Given the description of an element on the screen output the (x, y) to click on. 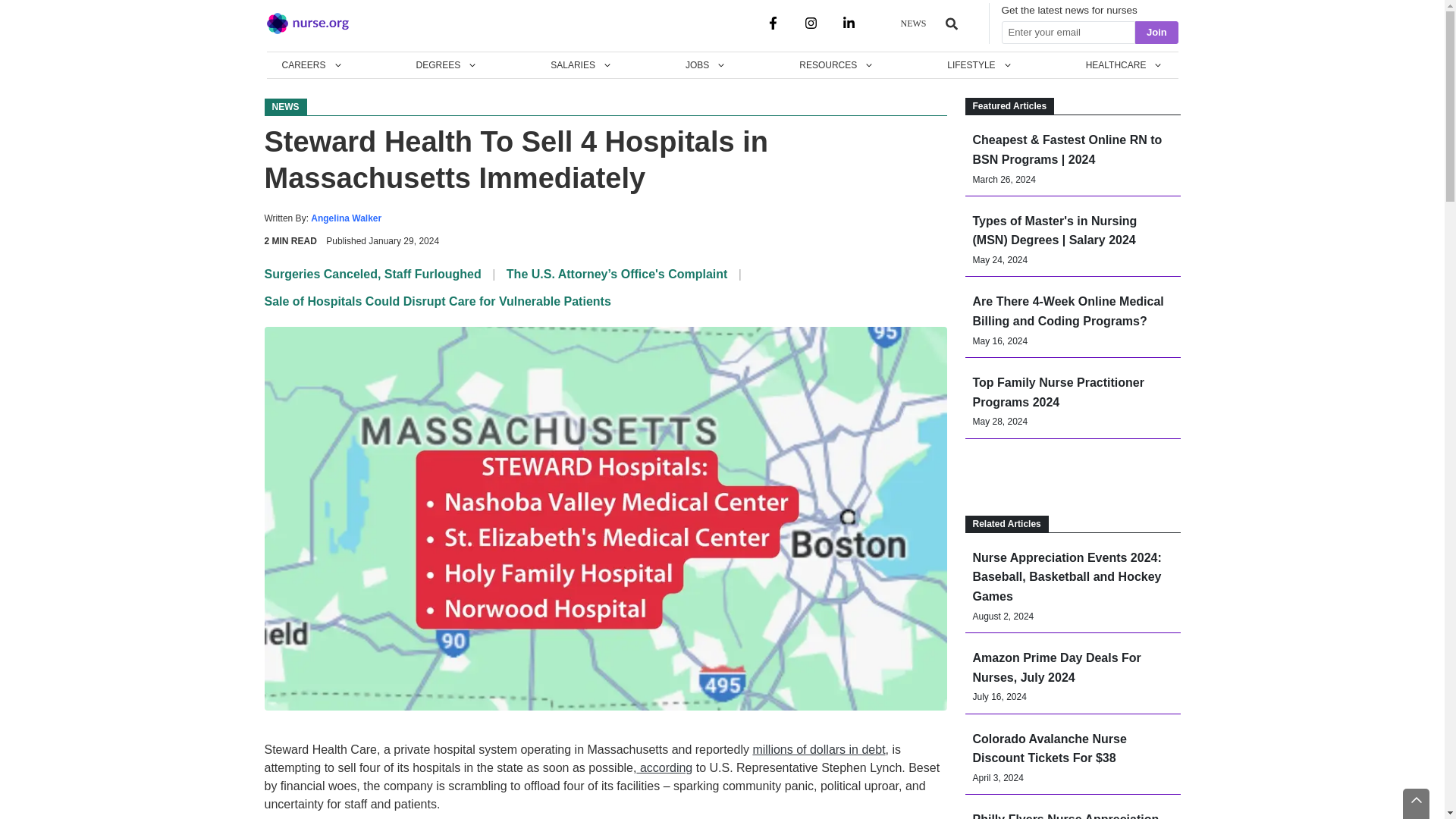
Join (1156, 32)
NEWS (913, 23)
Join (1156, 32)
CAREERS (312, 64)
